Given the description of an element on the screen output the (x, y) to click on. 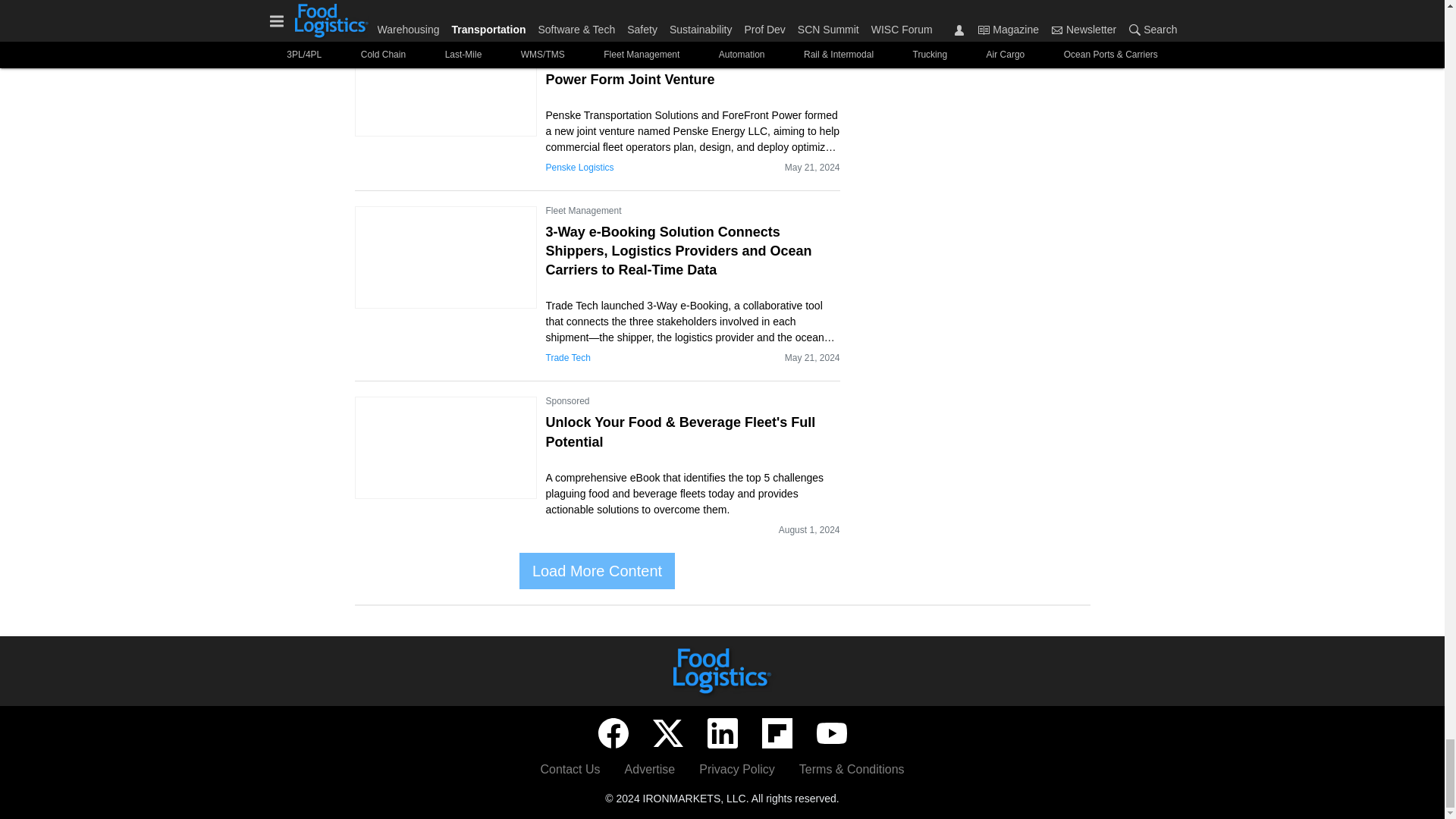
Facebook icon (611, 733)
YouTube icon (830, 733)
Twitter X icon (667, 733)
LinkedIn icon (721, 733)
Flipboard icon (776, 733)
